Given the description of an element on the screen output the (x, y) to click on. 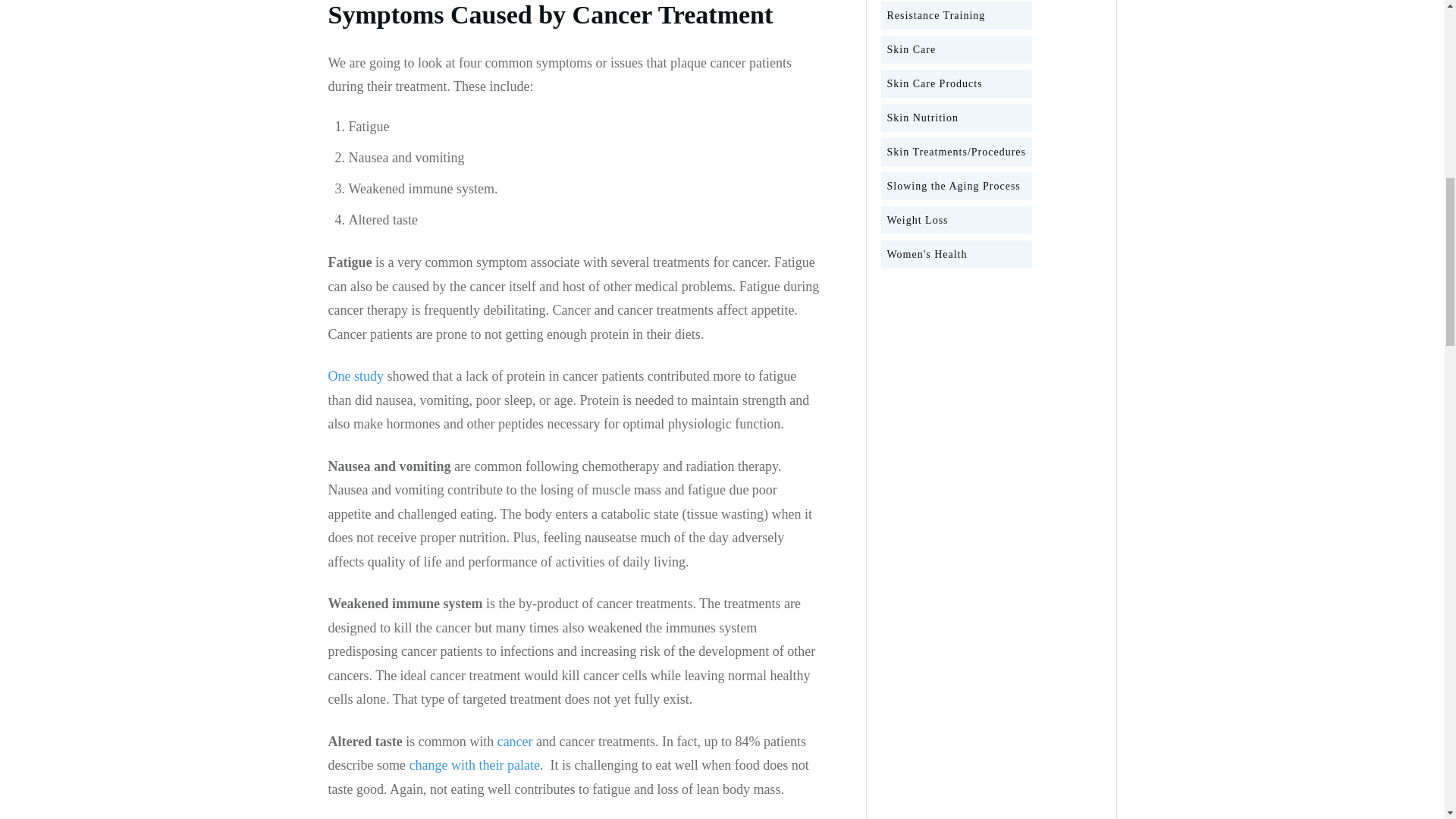
One study (355, 376)
cancer (514, 741)
change with their palate (473, 765)
